Given the description of an element on the screen output the (x, y) to click on. 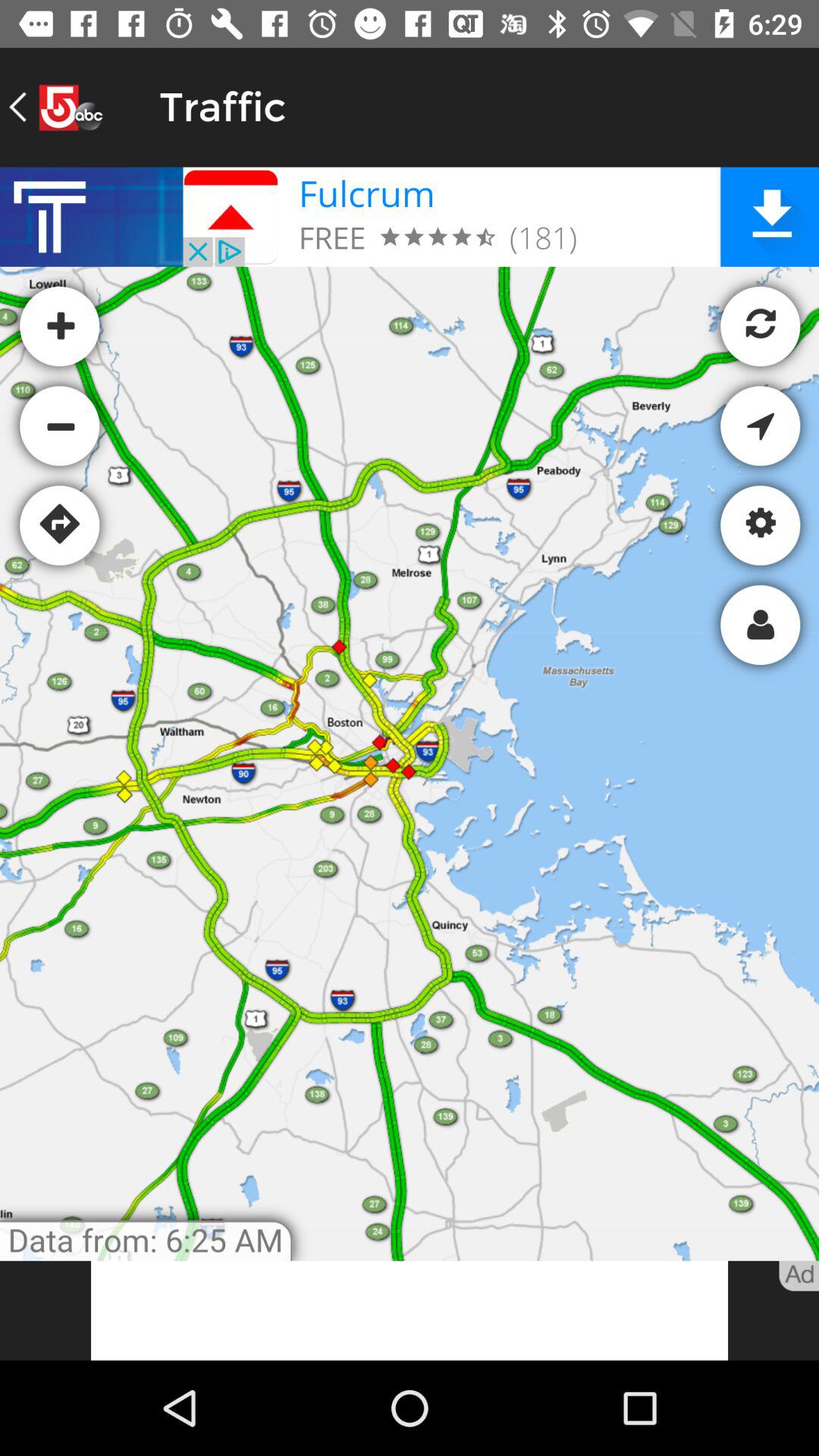
map (409, 713)
